Given the description of an element on the screen output the (x, y) to click on. 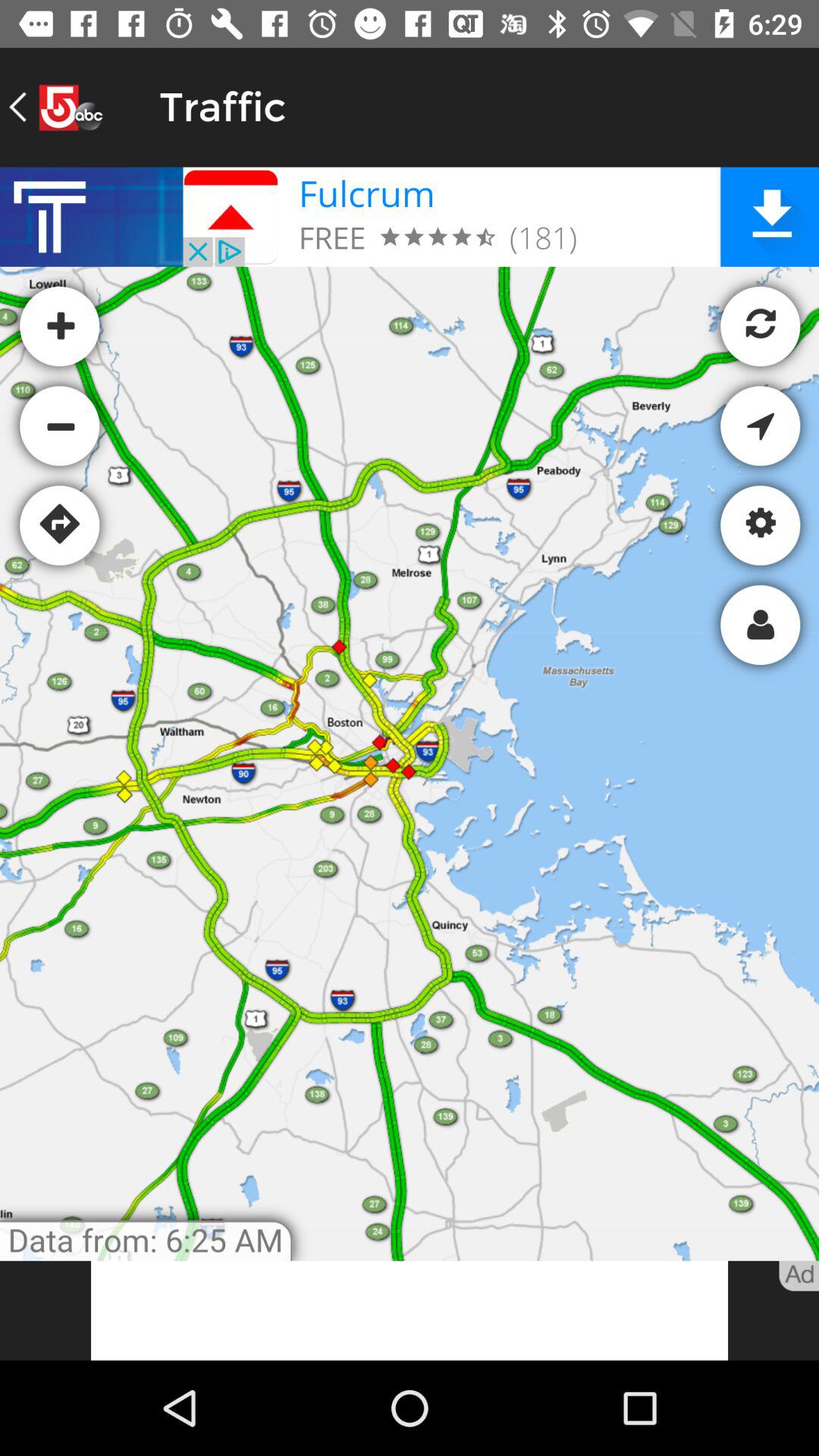
map (409, 713)
